Given the description of an element on the screen output the (x, y) to click on. 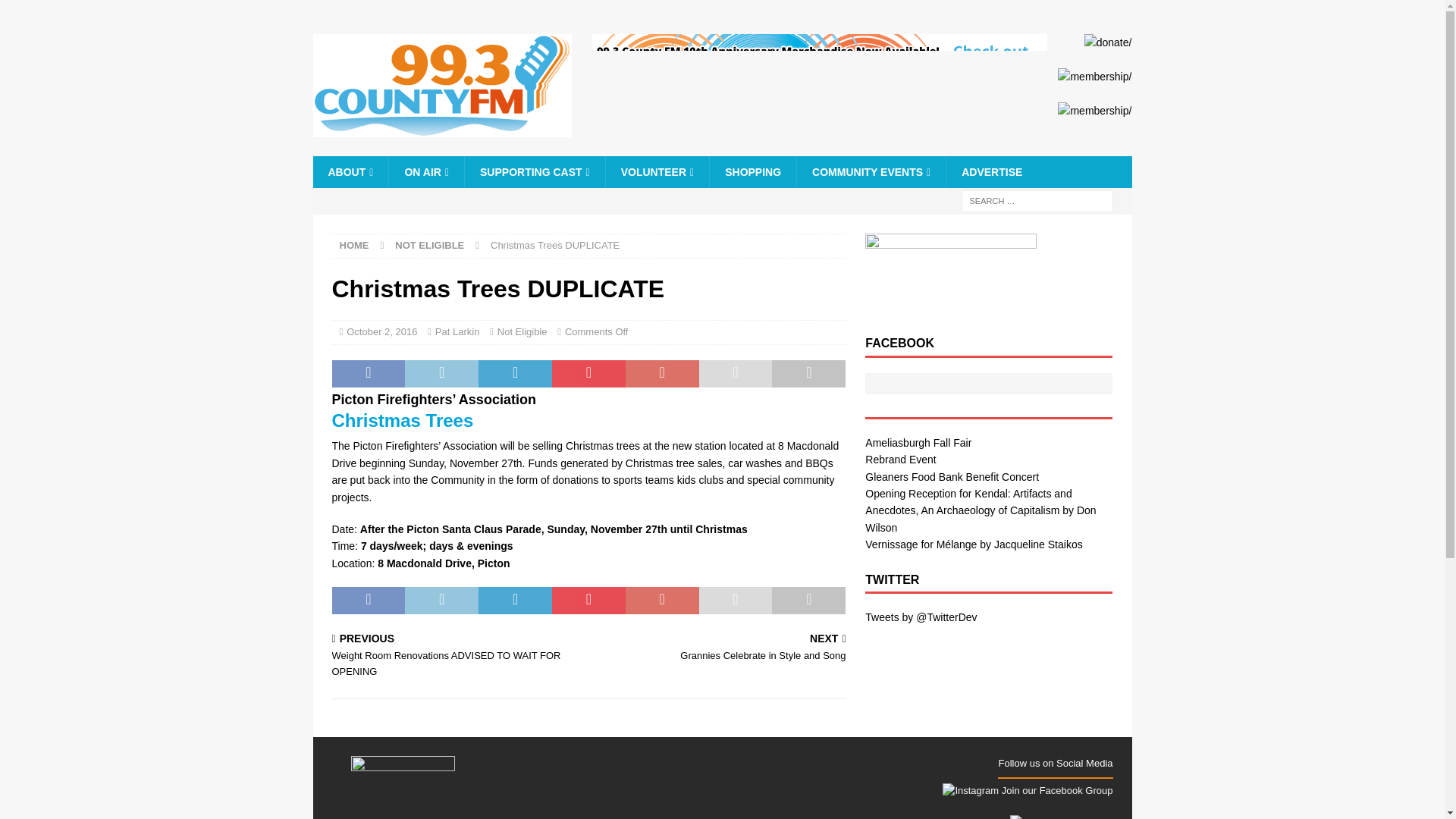
October 2, 2016 (381, 331)
HOME (354, 244)
Not Eligible (522, 331)
VOLUNTEER (657, 172)
SHOPPING (752, 172)
ABOUT (350, 172)
Pat Larkin (457, 331)
ADVERTISE (990, 172)
Search (56, 11)
COMMUNITY EVENTS (870, 172)
